Given the description of an element on the screen output the (x, y) to click on. 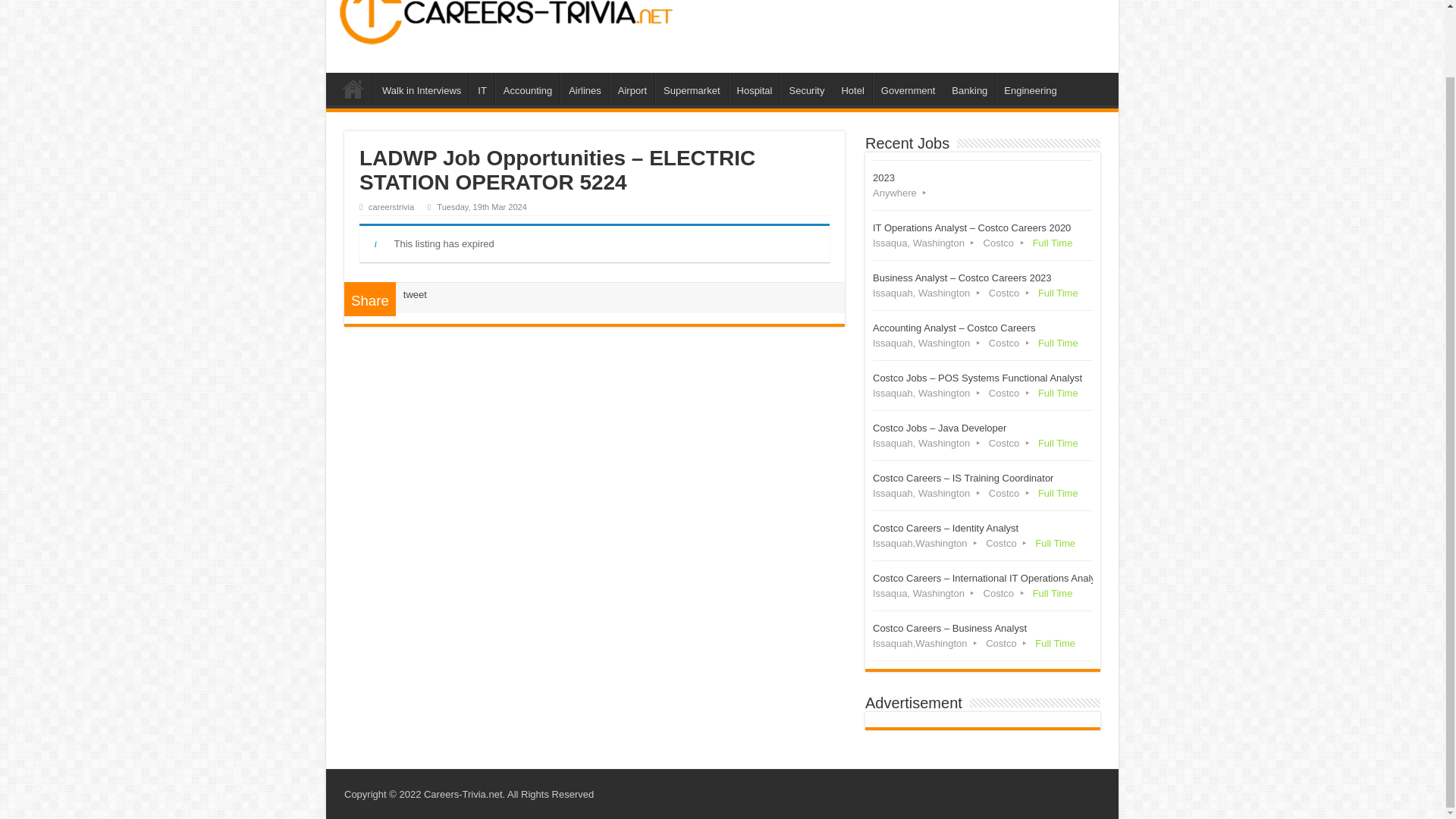
Airlines (584, 88)
Accounting (527, 88)
Home (352, 88)
tweet (414, 294)
Airport (631, 88)
Government (907, 88)
Security (805, 88)
Banking (968, 88)
Hospital (754, 88)
Walk in Interviews (421, 88)
